Given the description of an element on the screen output the (x, y) to click on. 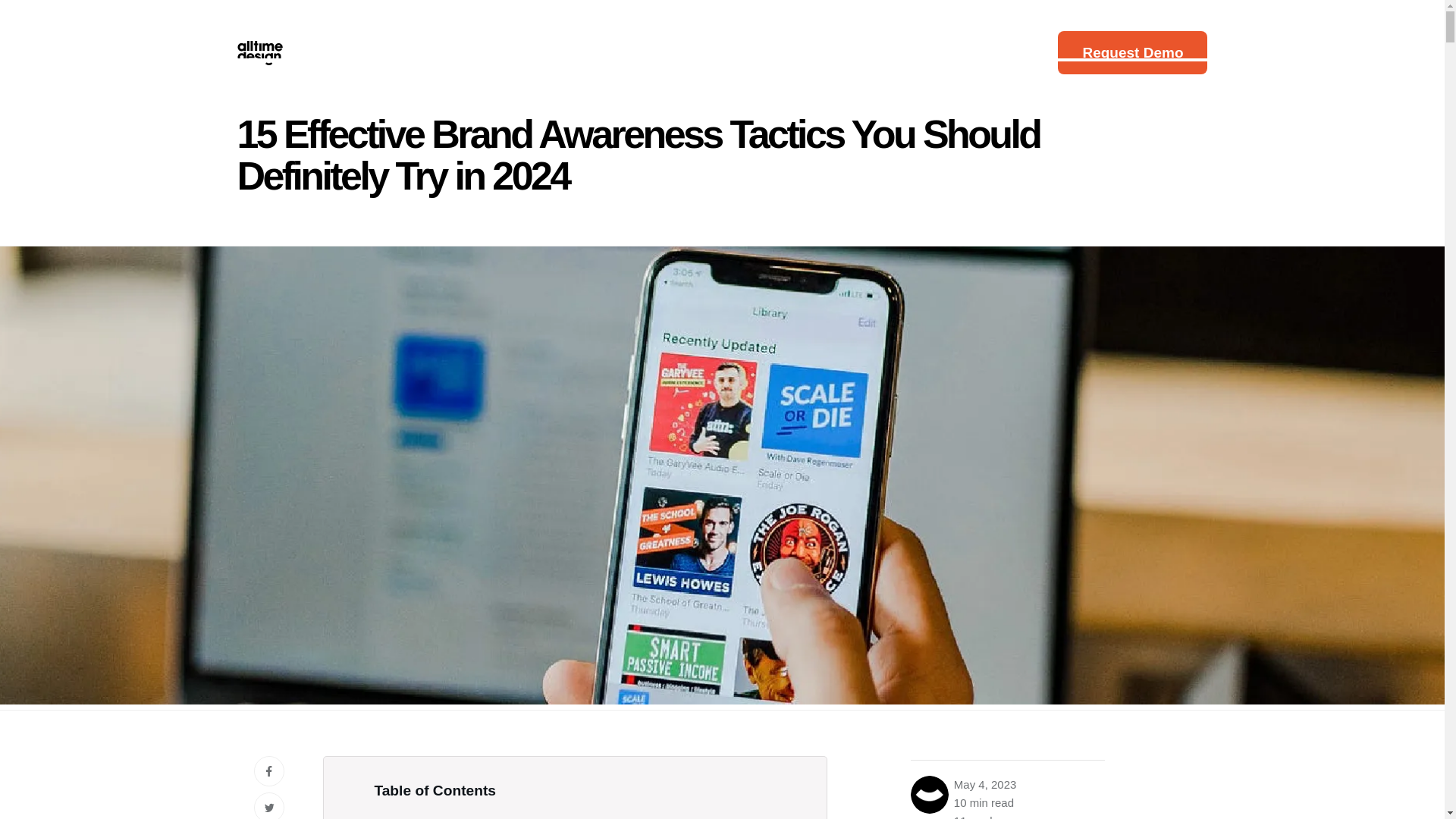
Sign up (962, 51)
Pricing (664, 51)
Request Demo (1132, 52)
Resources (765, 51)
Why us (466, 51)
Log in (1027, 51)
Our Work (565, 51)
